Given the description of an element on the screen output the (x, y) to click on. 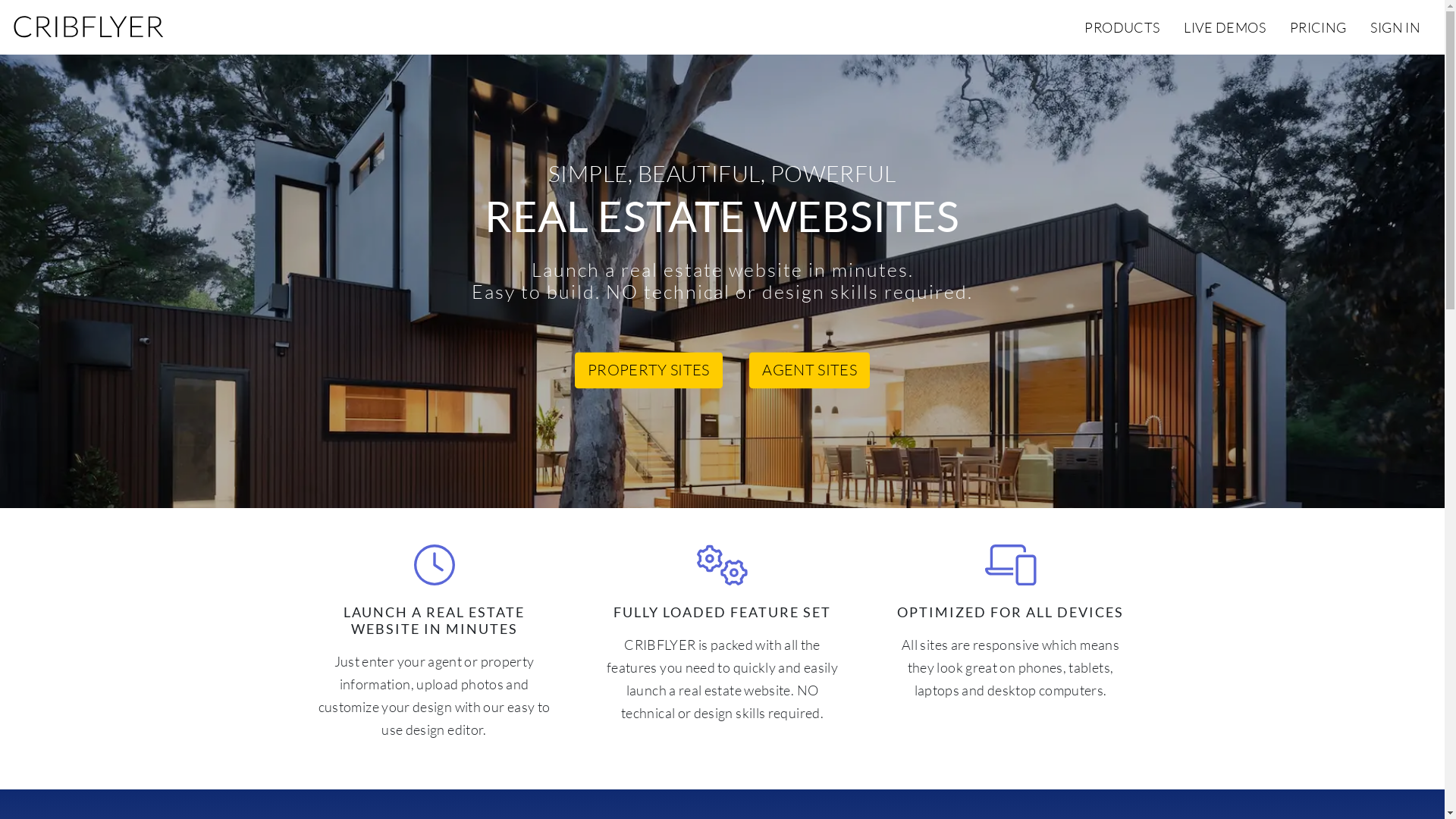
PRICING Element type: text (1317, 27)
AGENT SITES Element type: text (809, 370)
PRODUCTS Element type: text (1121, 27)
PROPERTY SITES Element type: text (648, 370)
SIGN IN Element type: text (1395, 27)
LIVE DEMOS Element type: text (1224, 27)
